Given the description of an element on the screen output the (x, y) to click on. 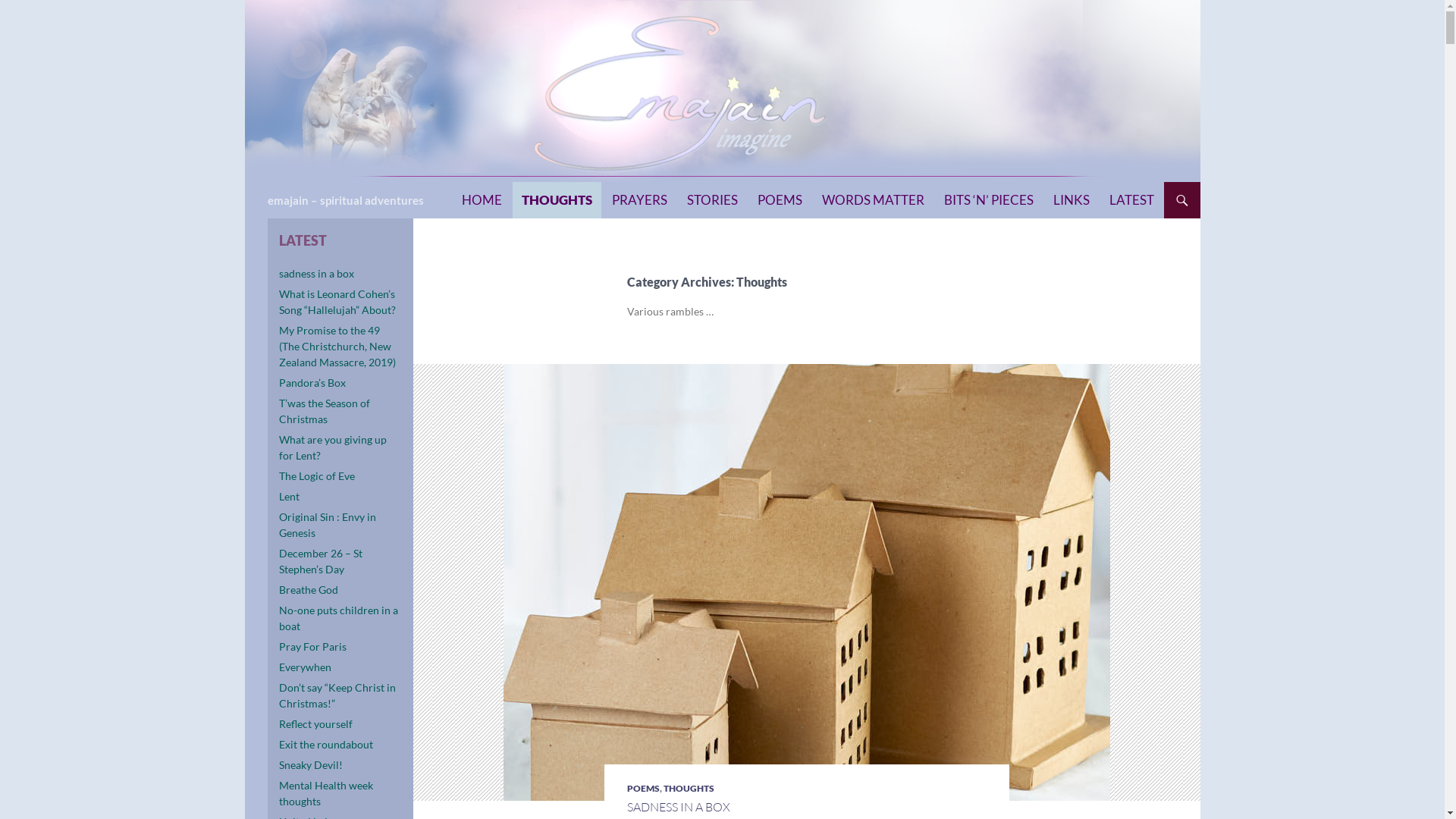
Reflect yourself Element type: text (315, 723)
Lent Element type: text (289, 495)
What are you giving up for Lent? Element type: text (332, 447)
sadness in a box Element type: text (316, 272)
POEMS Element type: text (778, 200)
POEMS Element type: text (642, 787)
LATEST Element type: text (1130, 200)
The Logic of Eve Element type: text (316, 475)
THOUGHTS Element type: text (556, 200)
SADNESS IN A BOX Element type: text (677, 806)
WORDS MATTER Element type: text (872, 200)
Pray For Paris Element type: text (312, 646)
Everywhen Element type: text (305, 666)
HOME Element type: text (480, 200)
SKIP TO CONTENT Element type: text (460, 182)
Sneaky Devil! Element type: text (310, 764)
Breathe God Element type: text (308, 589)
Search Element type: text (248, 182)
Exit the roundabout Element type: text (326, 743)
No-one puts children in a boat Element type: text (338, 617)
THOUGHTS Element type: text (687, 787)
Mental Health week thoughts Element type: text (326, 792)
PRAYERS Element type: text (638, 200)
LINKS Element type: text (1070, 200)
Original Sin : Envy in Genesis Element type: text (327, 524)
STORIES Element type: text (711, 200)
